Given the description of an element on the screen output the (x, y) to click on. 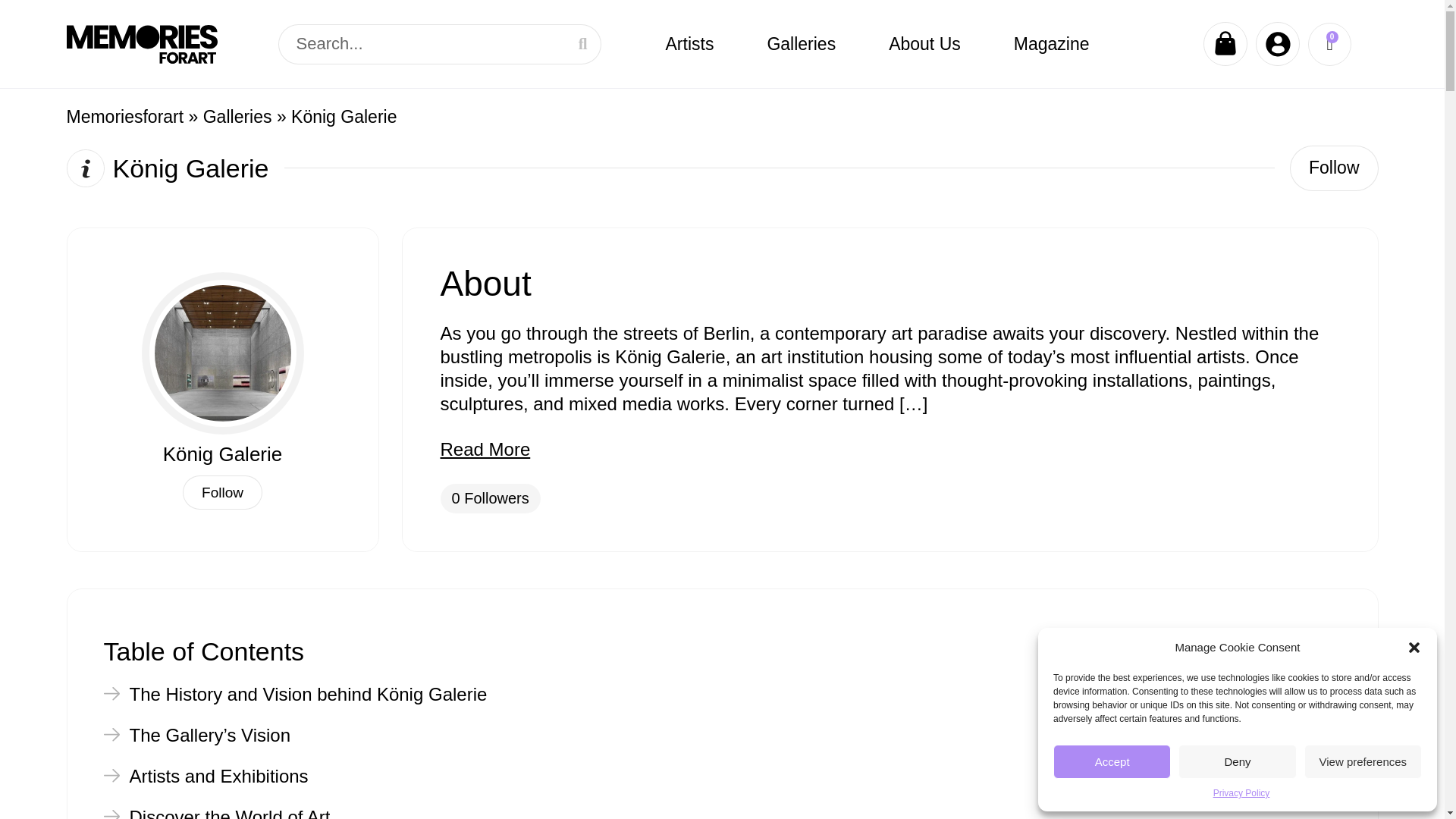
About Us (924, 44)
Follow (1333, 167)
Accept (1111, 761)
Memoriesforart (125, 116)
Artists and Exhibitions (205, 776)
Privacy Policy (1240, 793)
Galleries (237, 116)
Discover the World of Art (216, 812)
Galleries (801, 44)
0 (1329, 44)
Read More (484, 448)
Deny (1236, 761)
Follow (222, 492)
View preferences (1363, 761)
Artists (689, 44)
